Given the description of an element on the screen output the (x, y) to click on. 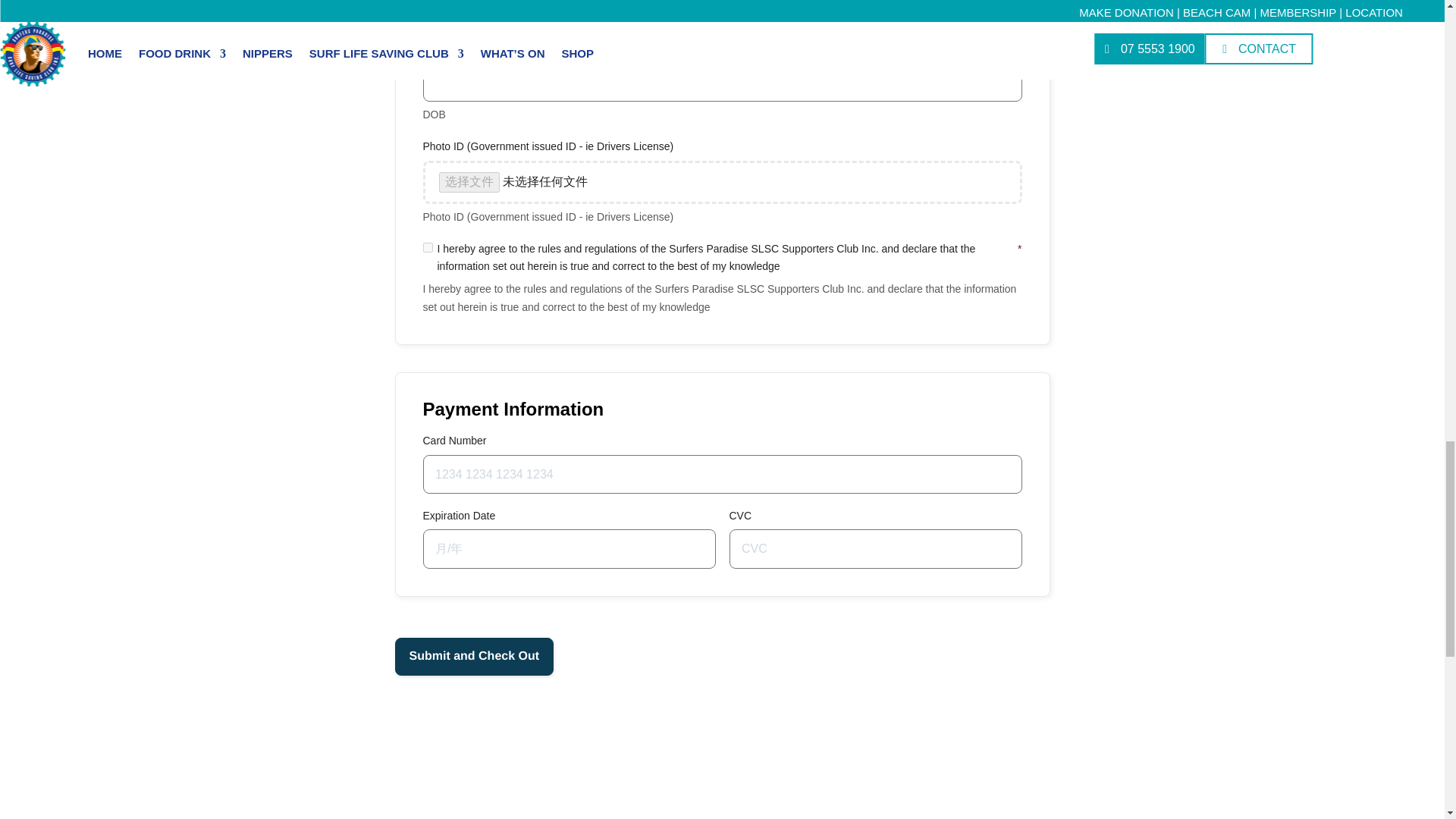
Secure payment input frame (722, 473)
Submit and Check Out (473, 656)
Secure payment input frame (875, 548)
1 (427, 247)
Secure payment input frame (569, 548)
